Given the description of an element on the screen output the (x, y) to click on. 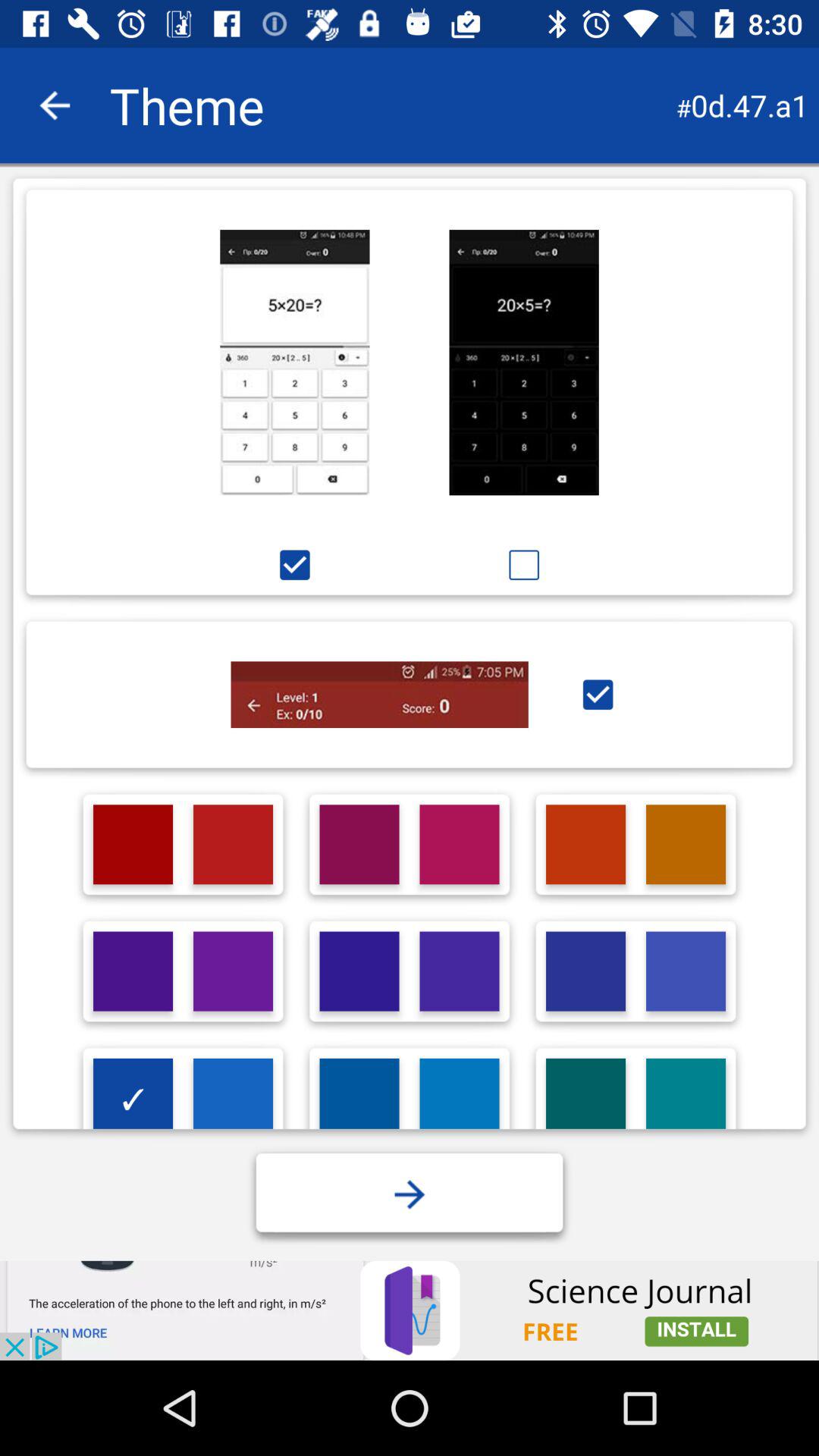
forward button (409, 1194)
